Given the description of an element on the screen output the (x, y) to click on. 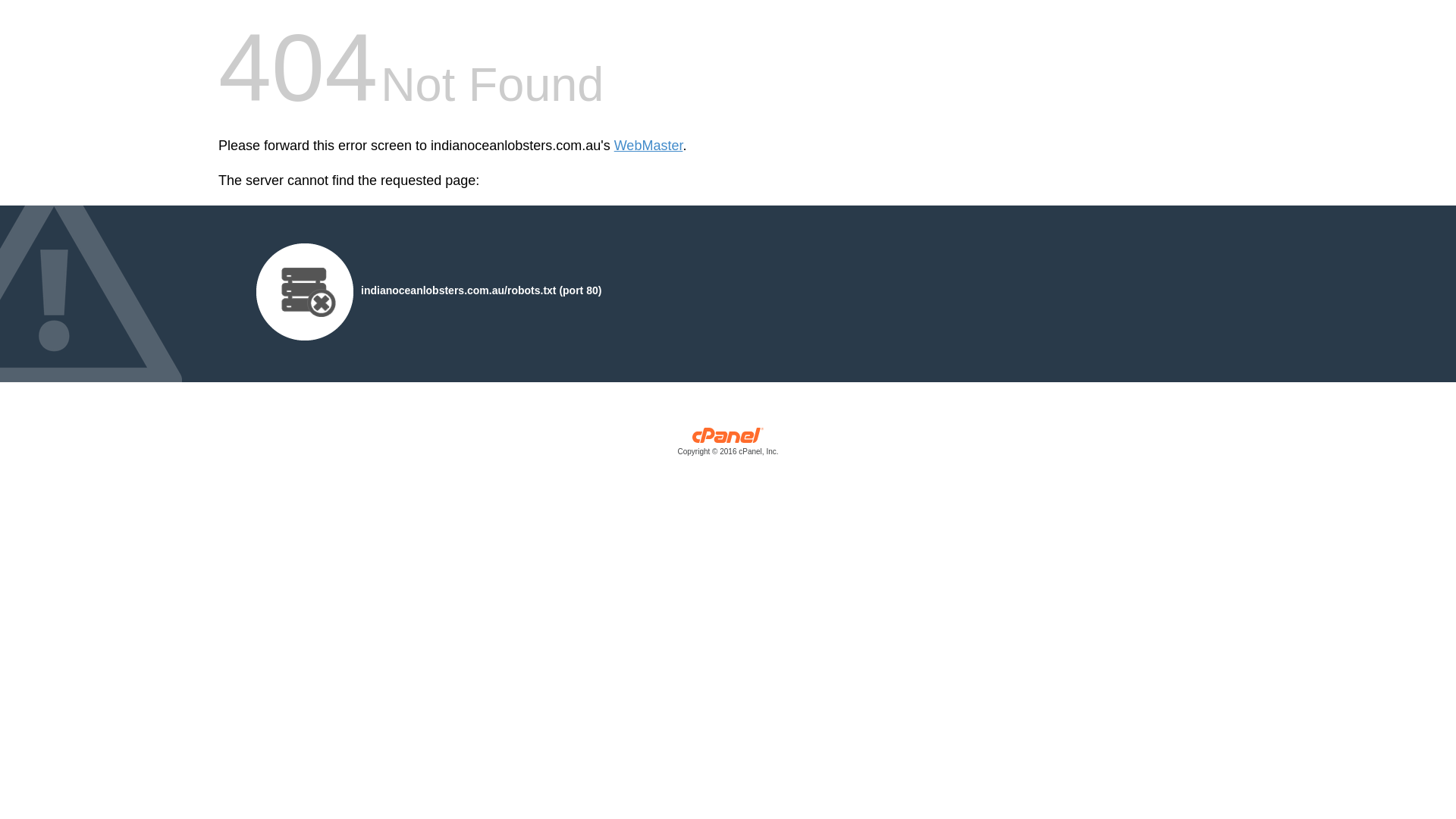
WebMaster Element type: text (648, 145)
